Given the description of an element on the screen output the (x, y) to click on. 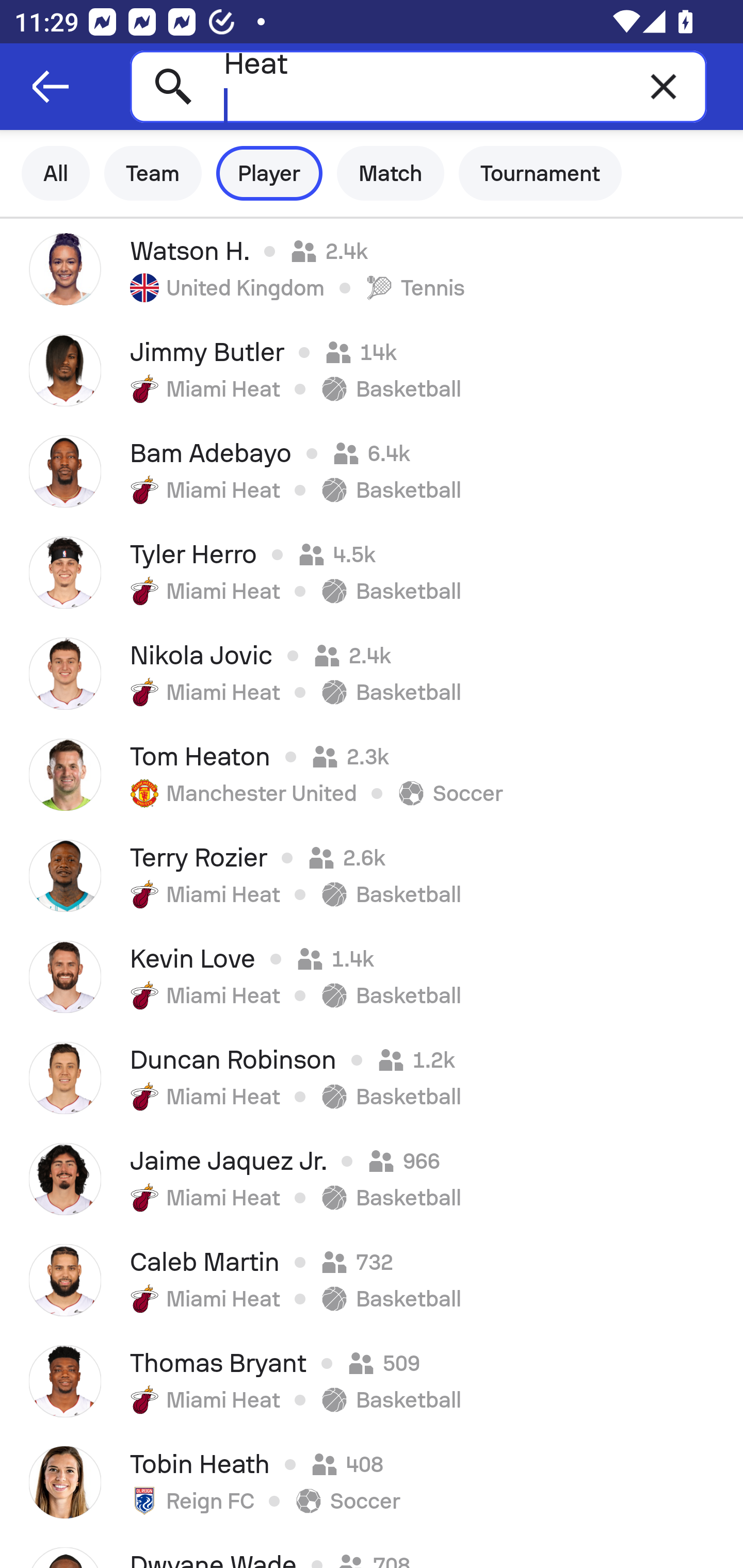
Navigate up (50, 86)
Heat
 (418, 86)
Clear text (663, 86)
All (55, 172)
Team (152, 172)
Player (268, 172)
Match (390, 172)
Tournament (540, 172)
Watson H. 2.4k United Kingdom Tennis (371, 268)
Jimmy Butler 14k Miami Heat Basketball (371, 369)
Bam Adebayo 6.4k Miami Heat Basketball (371, 471)
Tyler Herro 4.5k Miami Heat Basketball (371, 572)
Nikola Jovic 2.4k Miami Heat Basketball (371, 673)
Tom Heaton 2.3k Manchester United Soccer (371, 774)
Terry Rozier 2.6k Miami Heat Basketball (371, 875)
Kevin Love 1.4k Miami Heat Basketball (371, 976)
Duncan Robinson 1.2k Miami Heat Basketball (371, 1077)
Jaime Jaquez Jr. 966 Miami Heat Basketball (371, 1178)
Caleb Martin 732 Miami Heat Basketball (371, 1280)
Thomas Bryant 509 Miami Heat Basketball (371, 1381)
Tobin Heath 408 Reign FC Soccer (371, 1482)
